Given the description of an element on the screen output the (x, y) to click on. 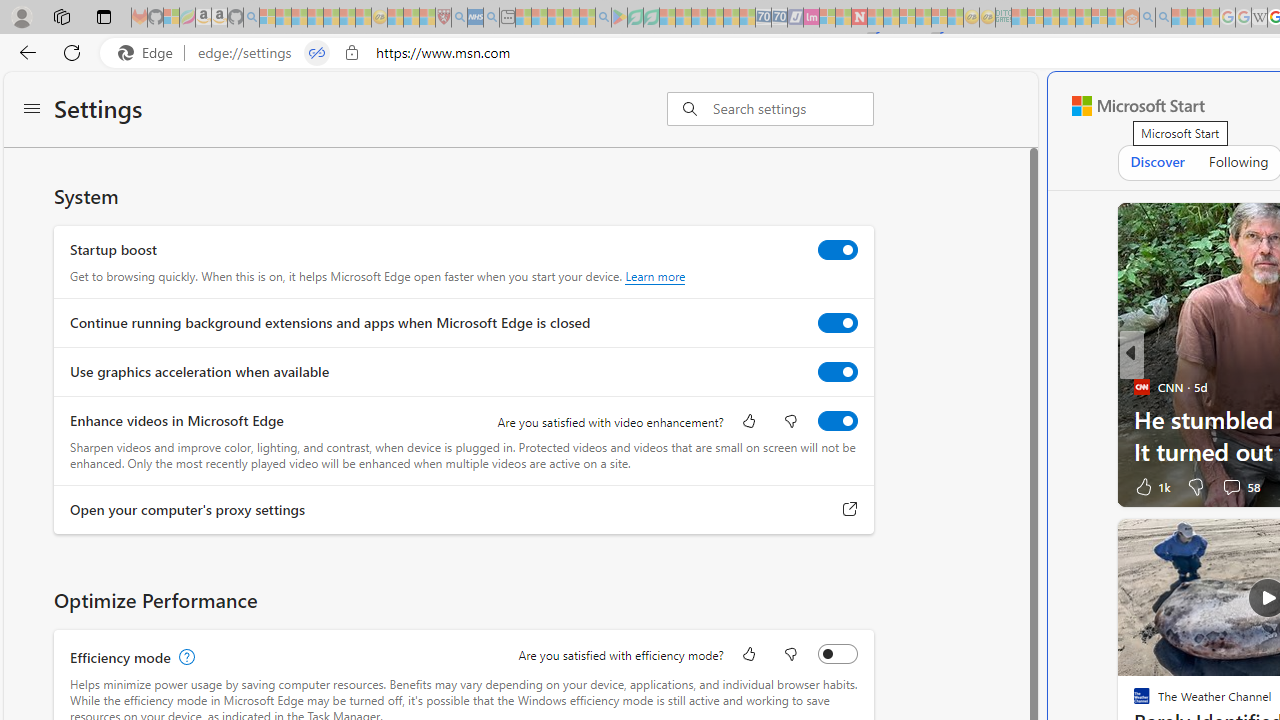
New tab - Sleeping (507, 17)
View comments 142 Comment (1231, 485)
Latest Politics News & Archive | Newsweek.com - Sleeping (859, 17)
Skip to content (1130, 105)
The Weather Channel - MSN - Sleeping (299, 17)
Dislike (1195, 486)
Efficiency mode (837, 653)
Learn more (655, 276)
Use graphics acceleration when available (837, 372)
Like (748, 655)
